Given the description of an element on the screen output the (x, y) to click on. 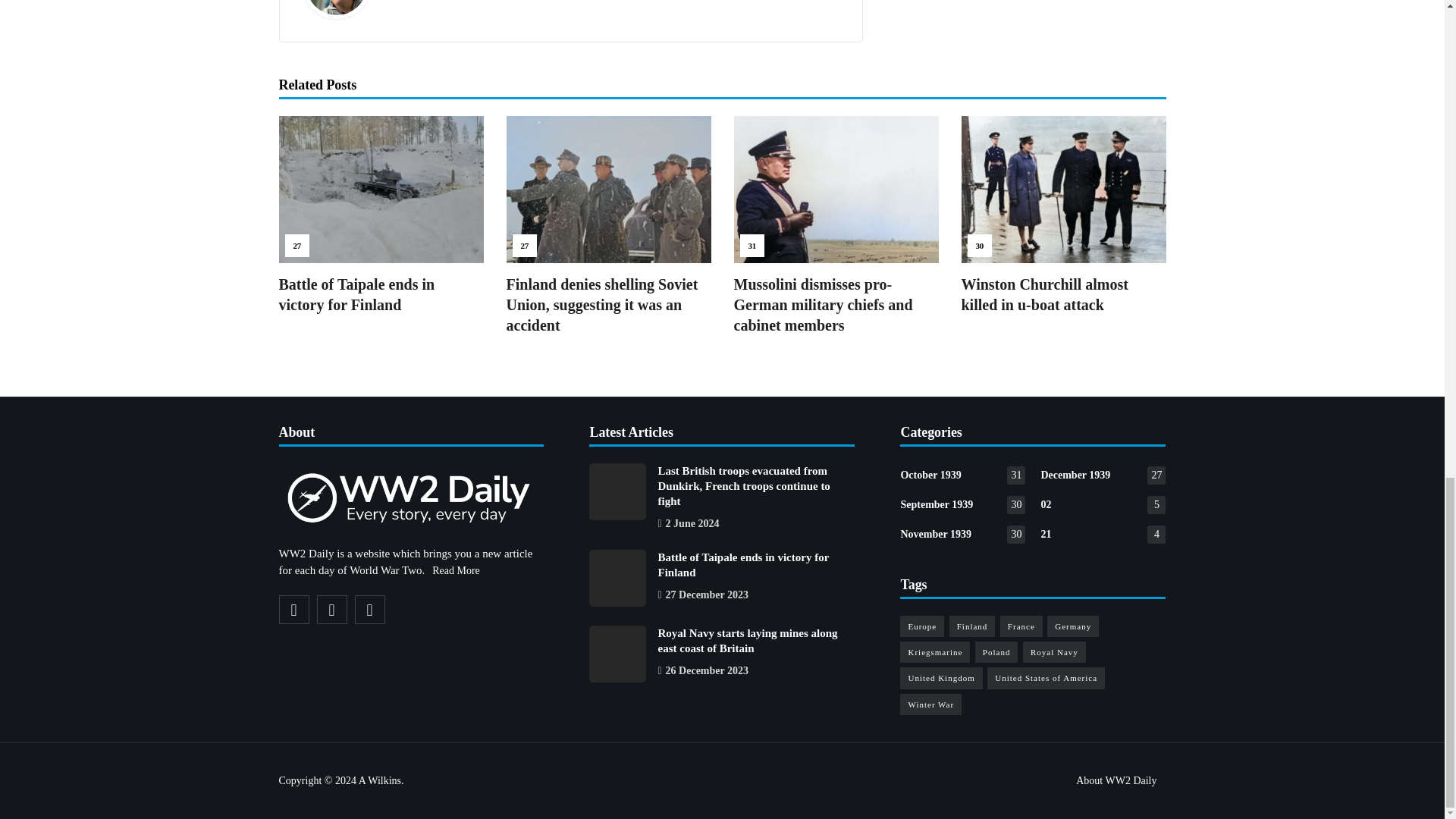
Battle of Taipale ends in victory for Finland (357, 294)
Battle of Taipale ends in victory for Finland (381, 189)
Winston Churchill almost killed in u-boat attack (1063, 189)
Winston Churchill almost killed in u-boat attack (1044, 294)
